Given the description of an element on the screen output the (x, y) to click on. 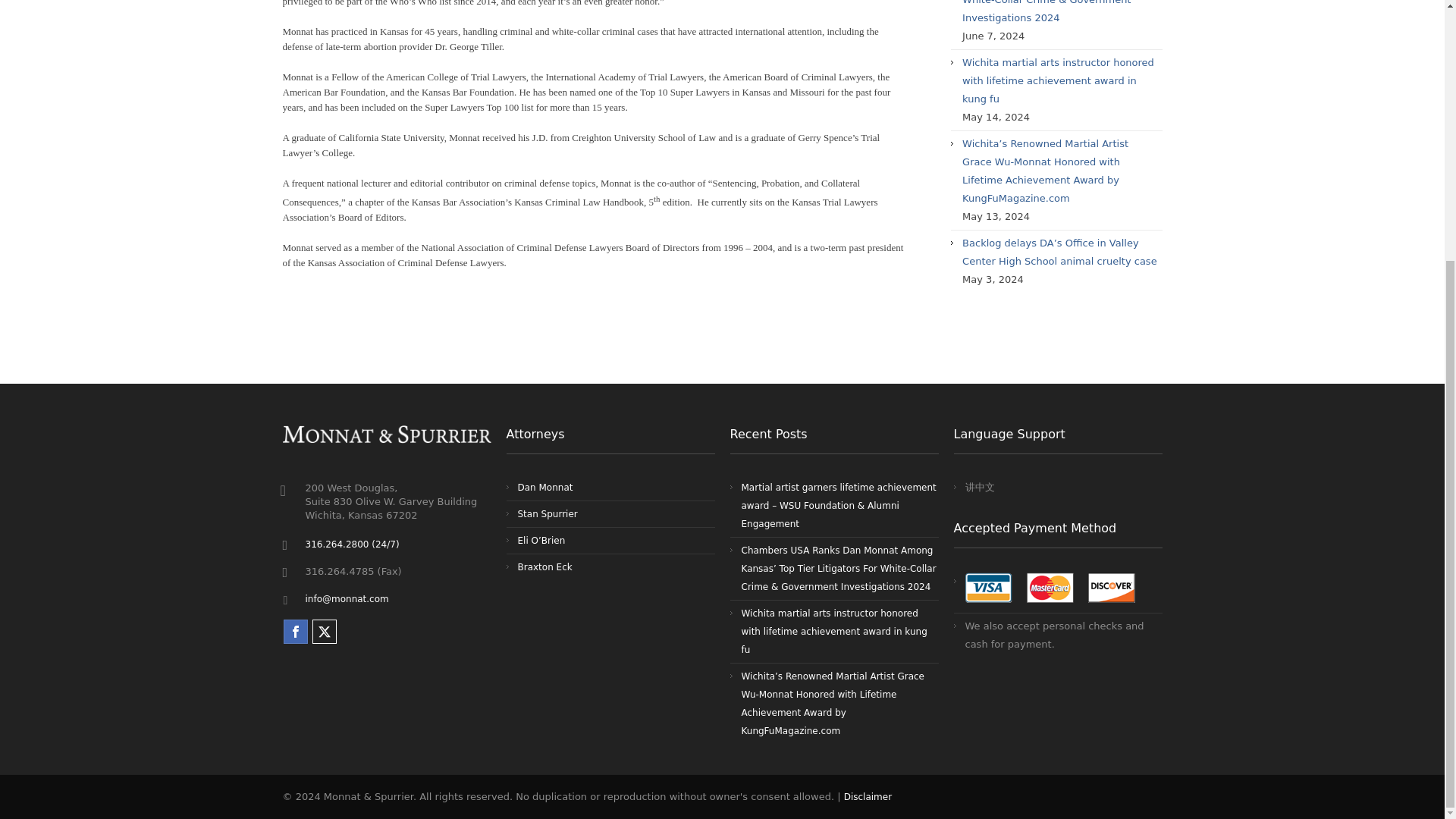
Dan Monnat (544, 487)
Stan Spurrier (546, 513)
